Given the description of an element on the screen output the (x, y) to click on. 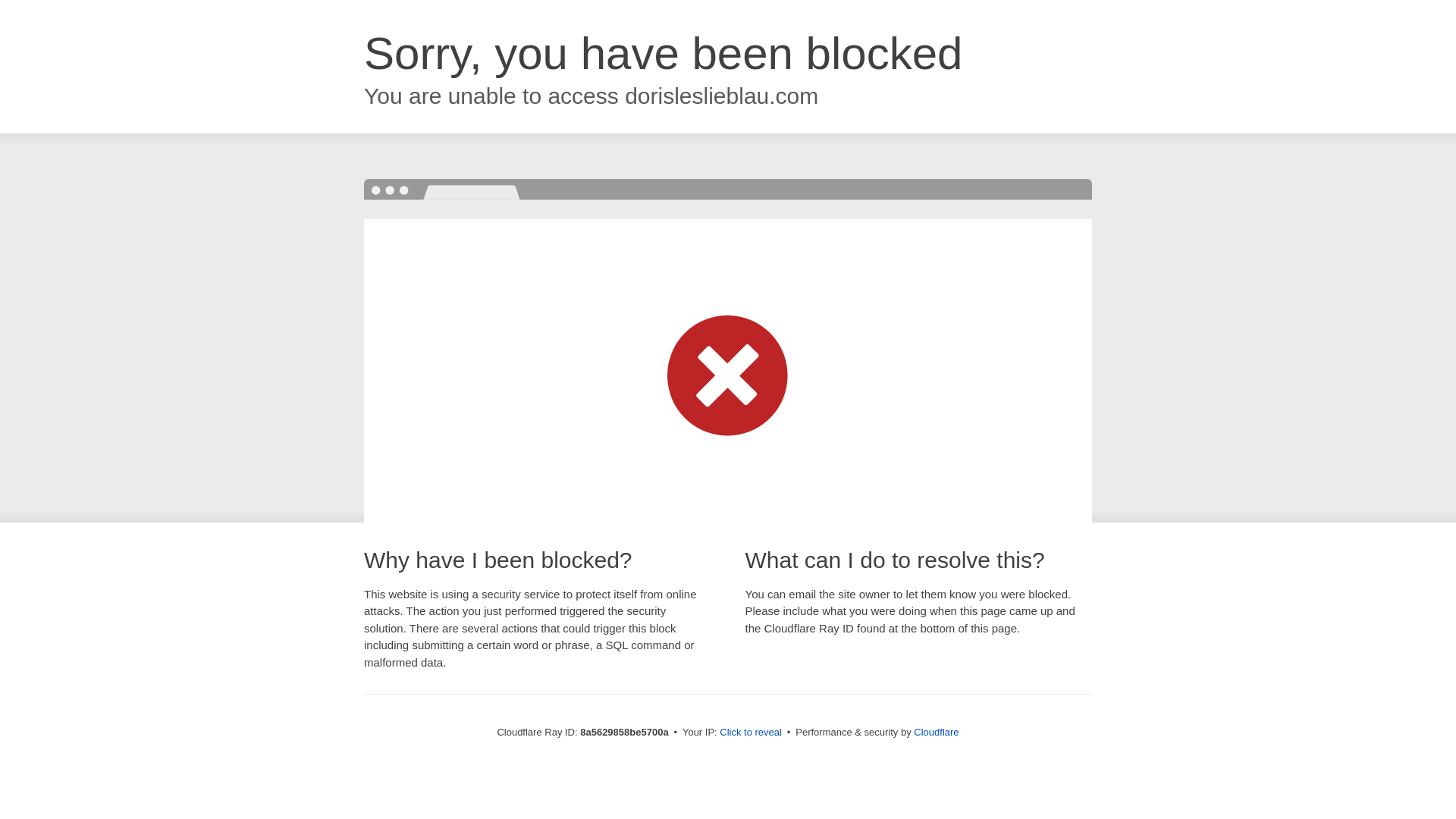
Click to reveal (750, 732)
Cloudflare (936, 731)
